Given the description of an element on the screen output the (x, y) to click on. 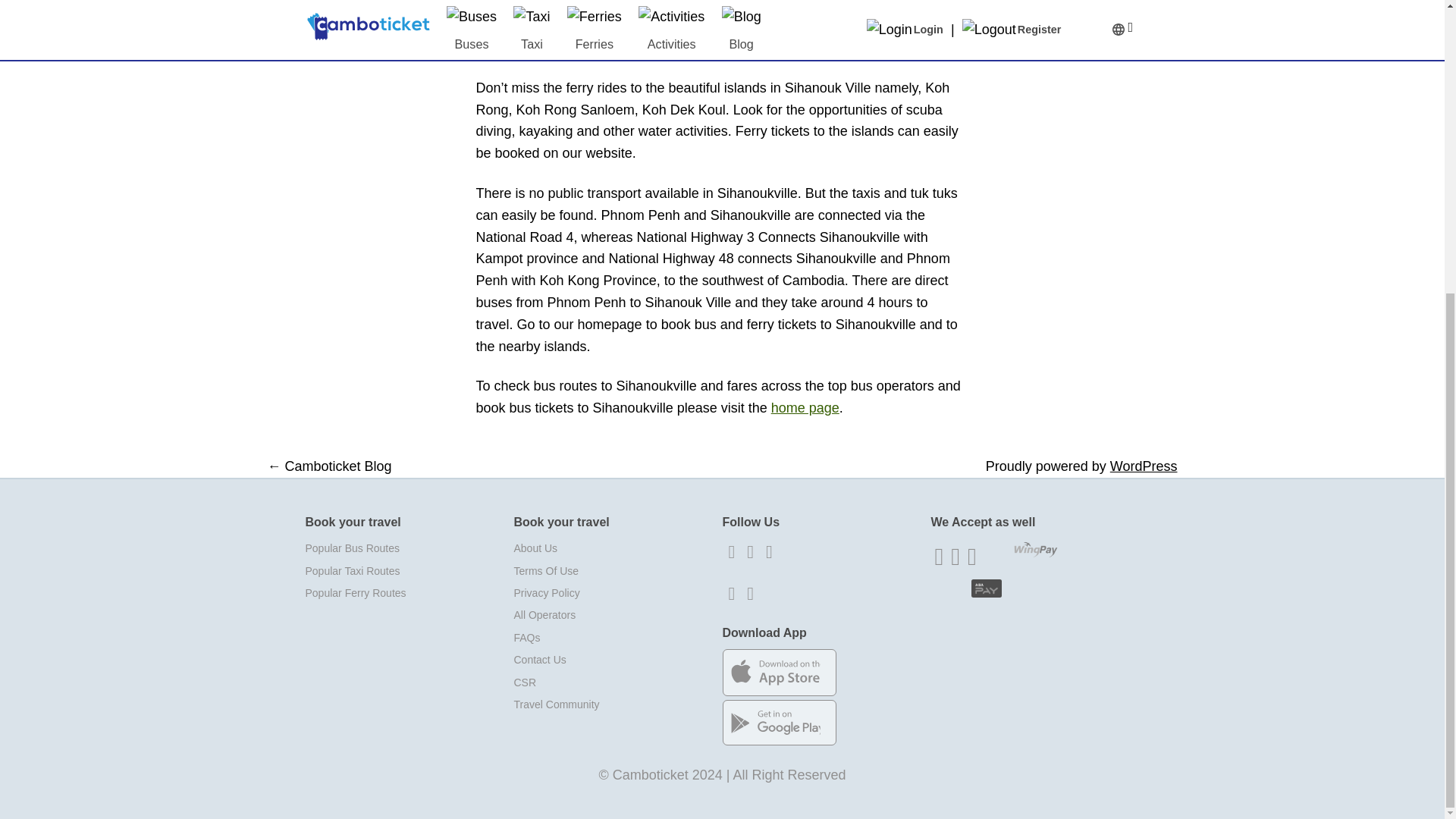
FAQs (617, 638)
WordPress (1143, 466)
Privacy Policy (617, 593)
home page (805, 407)
All Operators (617, 615)
Popular Taxi Routes (408, 571)
About Us (617, 548)
Popular Bus Routes (408, 548)
Travel Community (617, 704)
Popular Ferry Routes (408, 593)
Contact Us (617, 659)
Terms Of Use (617, 571)
CSR (617, 682)
